Given the description of an element on the screen output the (x, y) to click on. 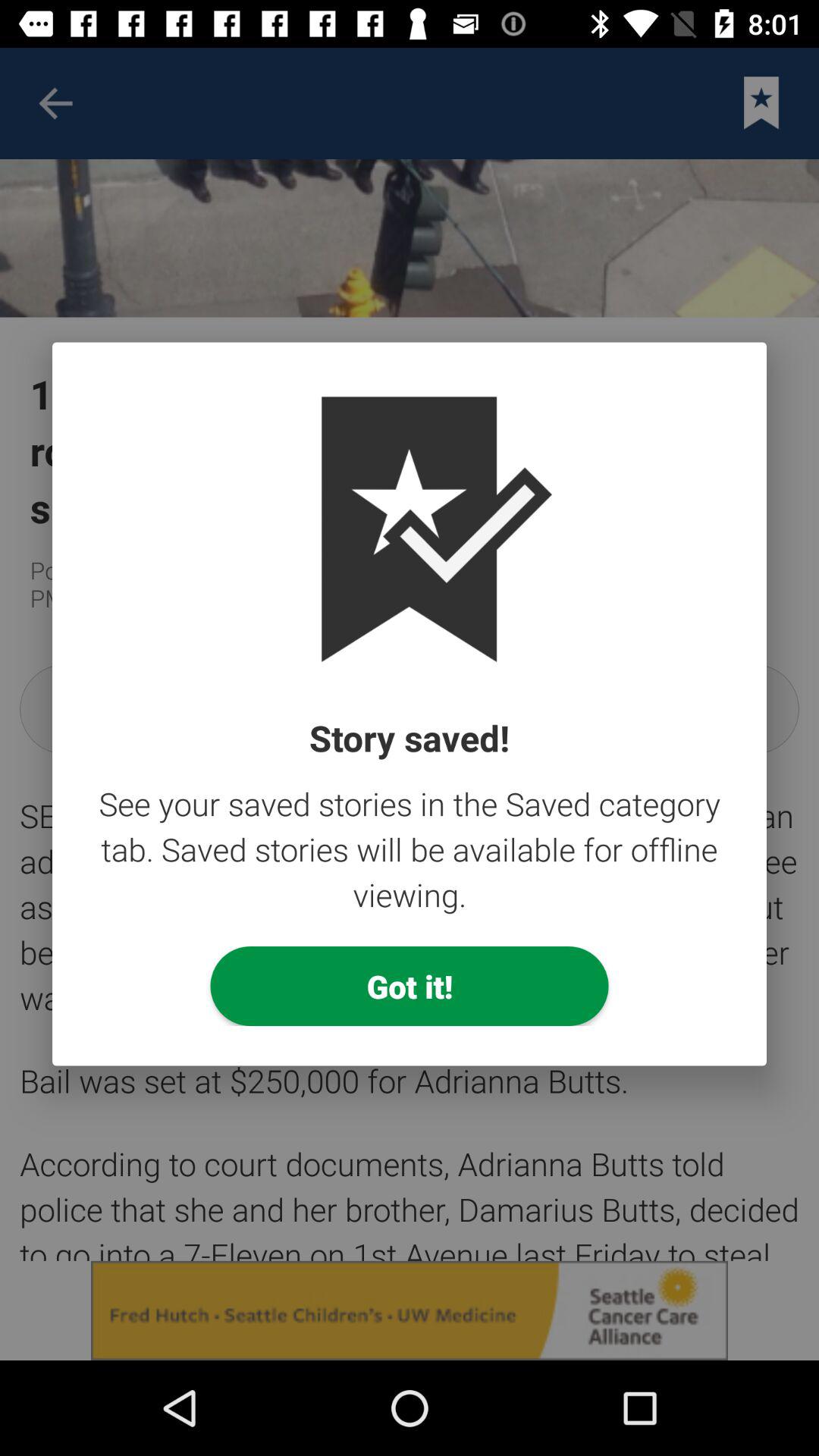
turn off the item at the bottom (409, 986)
